Given the description of an element on the screen output the (x, y) to click on. 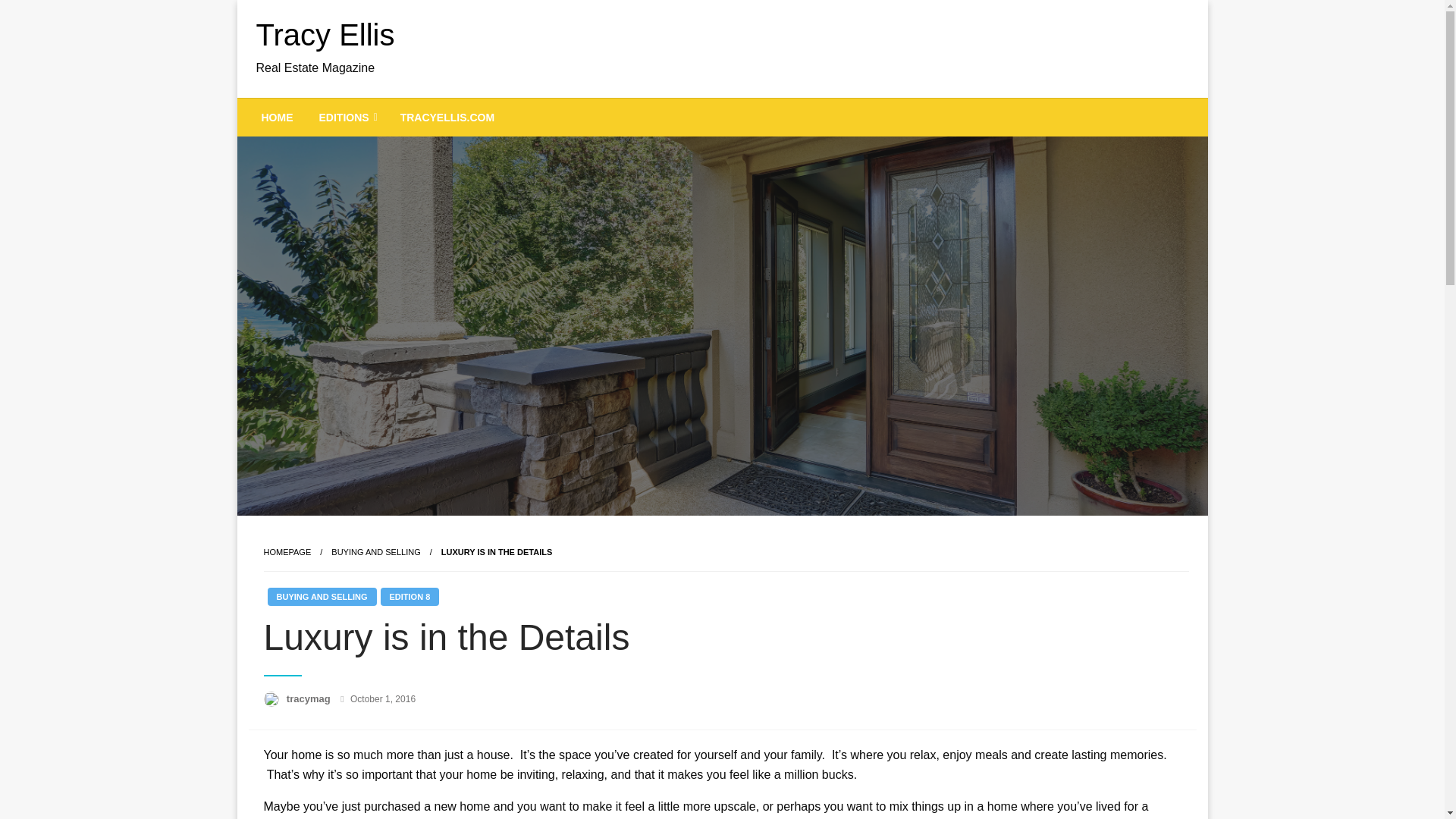
Tracy Ellis (325, 34)
Homepage (287, 551)
October 1, 2016 (382, 698)
TRACYELLIS.COM (446, 117)
tracymag (309, 698)
HOMEPAGE (287, 551)
BUYING AND SELLING (375, 551)
Buying and Selling (375, 551)
BUYING AND SELLING (320, 597)
tracymag (309, 698)
EDITION 8 (409, 597)
Luxury is in the Details (496, 551)
HOME (276, 117)
EDITIONS (346, 117)
